Given the description of an element on the screen output the (x, y) to click on. 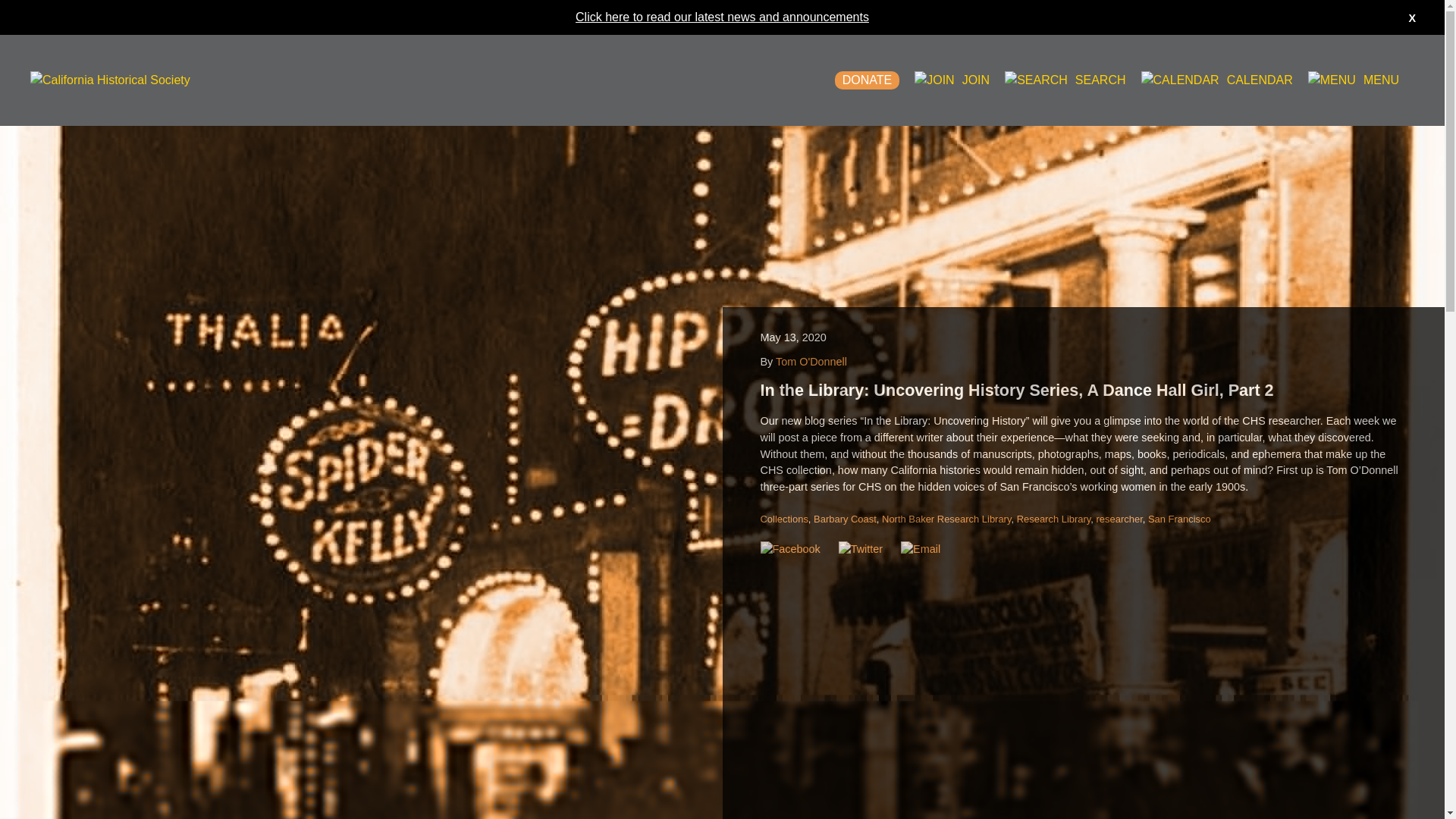
Email (920, 549)
Twitter (860, 549)
Facebook (789, 549)
Click here to read our latest news and announcements (721, 17)
Posts by Tom O'Donnell (811, 361)
